Given the description of an element on the screen output the (x, y) to click on. 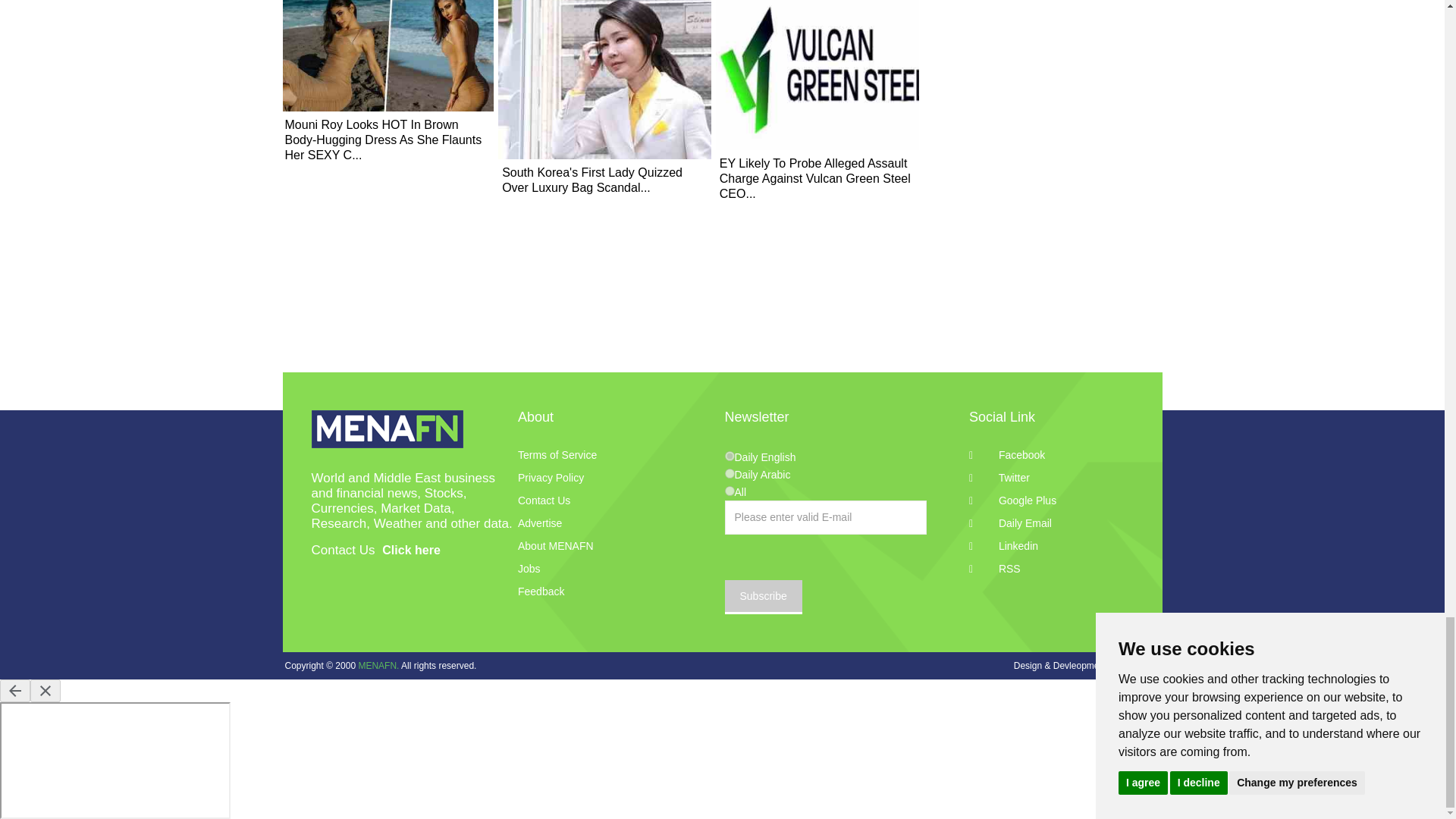
Subscribe (763, 596)
